Given the description of an element on the screen output the (x, y) to click on. 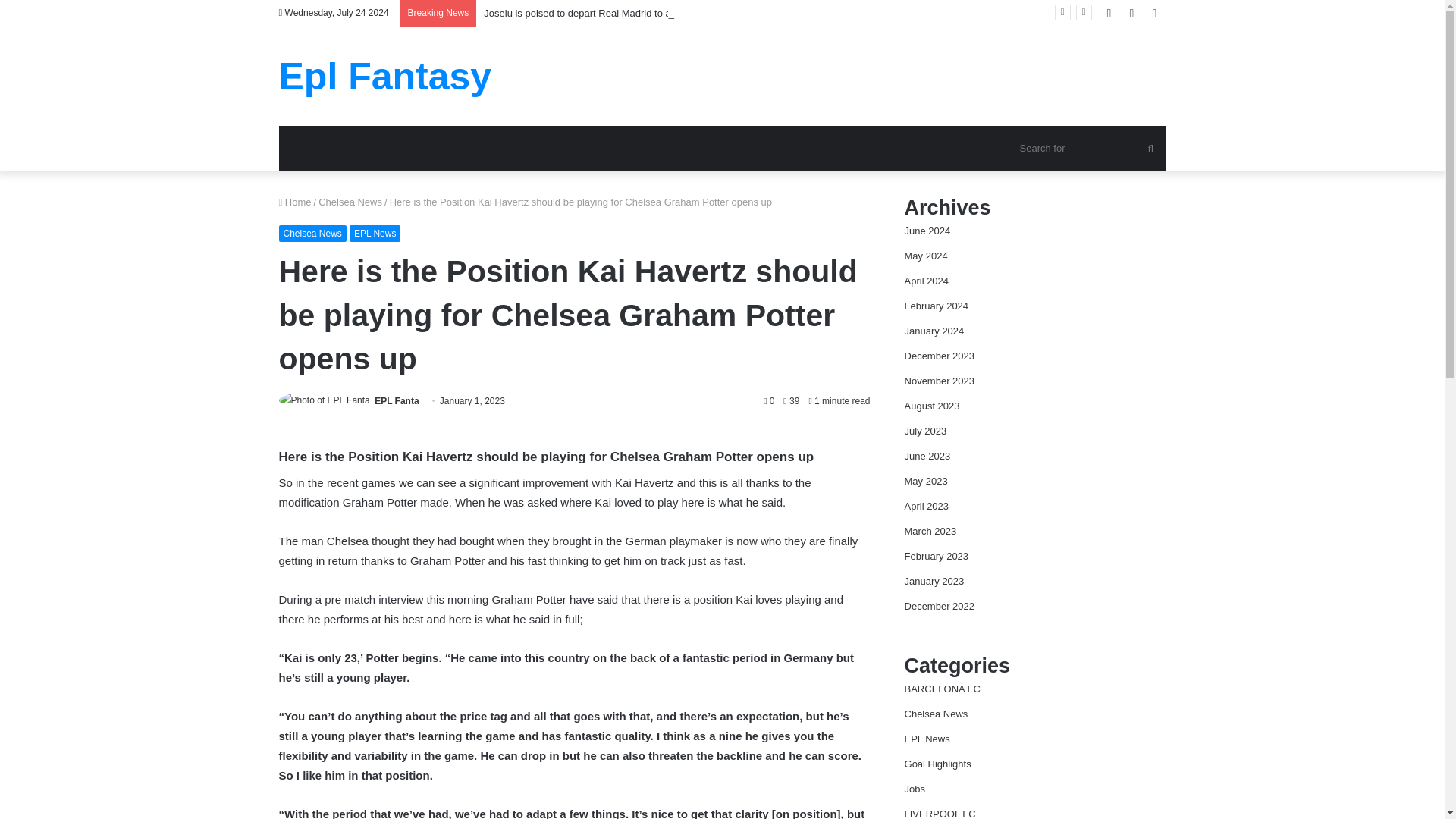
Chelsea News (349, 202)
Epl Fantasy (385, 76)
Home (295, 202)
Chelsea News (312, 233)
EPL Fanta (396, 400)
Search for (1088, 148)
Epl Fantasy (385, 76)
EPL Fanta (396, 400)
EPL News (375, 233)
